Given the description of an element on the screen output the (x, y) to click on. 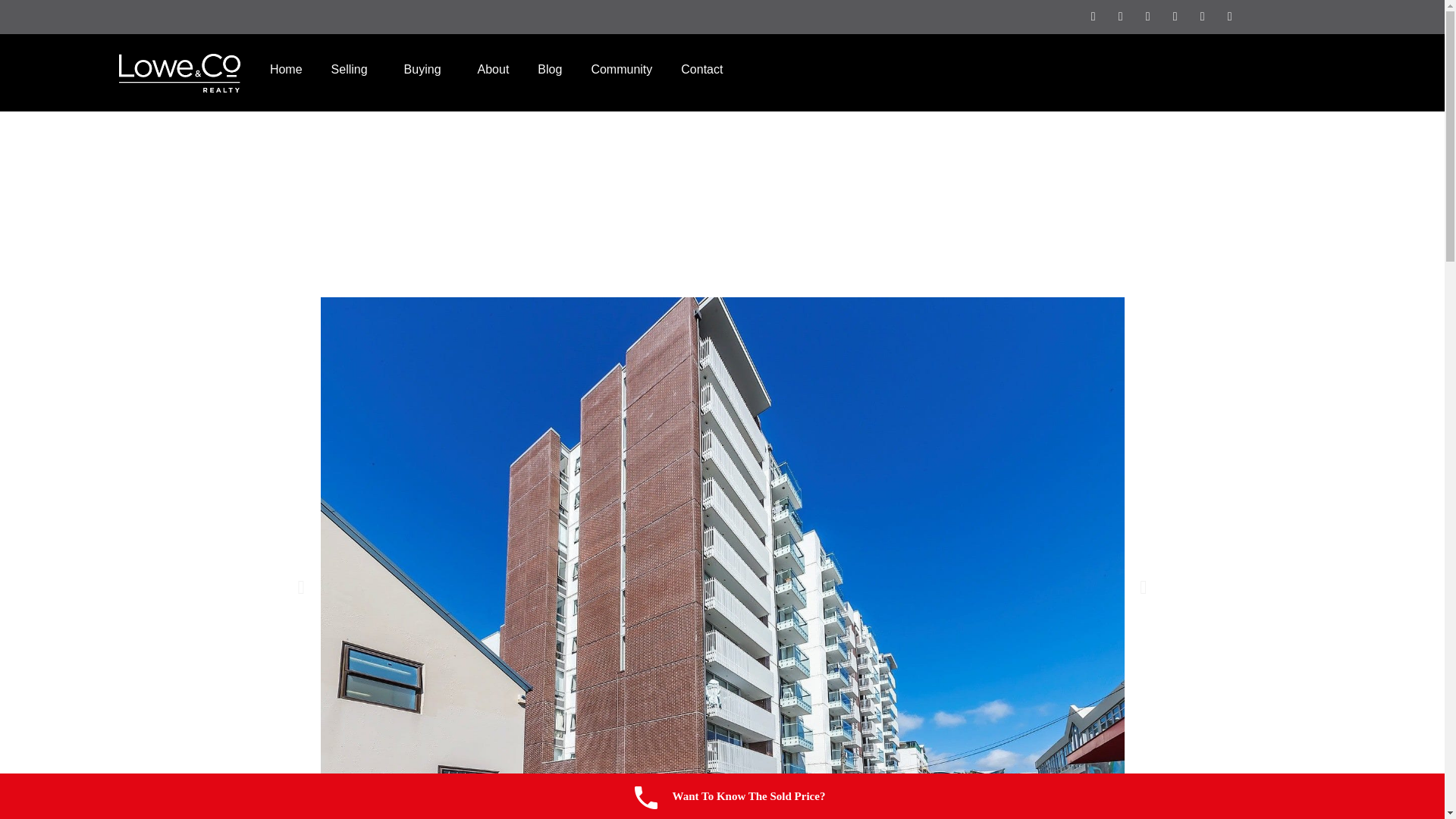
Buying (426, 69)
Selling (353, 69)
Contact (701, 69)
Blog (549, 69)
Community (621, 69)
Home (286, 69)
About (493, 69)
